Given the description of an element on the screen output the (x, y) to click on. 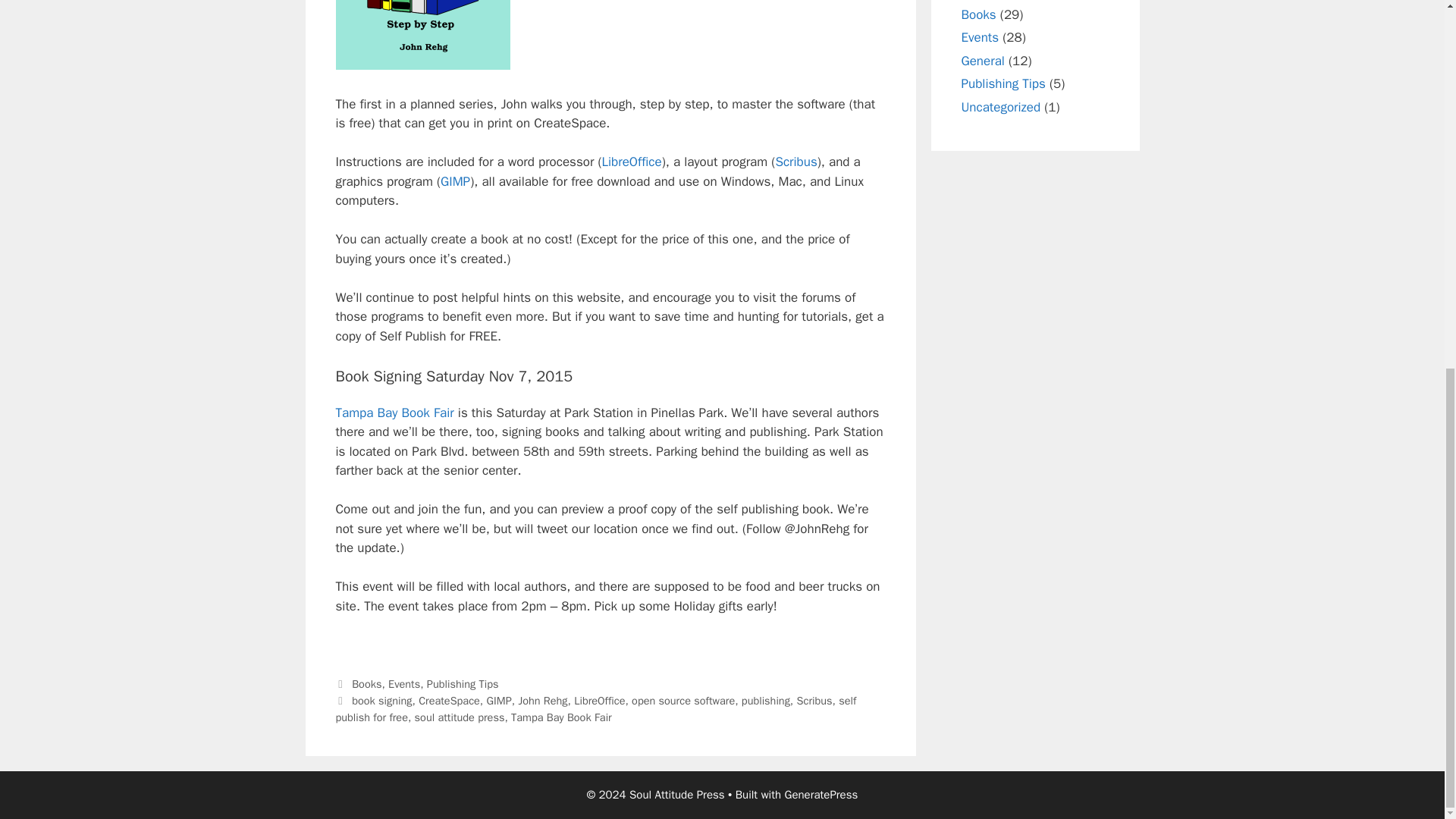
Events (979, 37)
CreateSpace (449, 700)
LibreOffice (598, 700)
publishing (765, 700)
LibreOffice (632, 161)
open source software (683, 700)
Events (404, 684)
Scribus (814, 700)
soul attitude press (459, 716)
GIMP (455, 181)
self publish for free (595, 708)
Publishing Tips (462, 684)
book signing (382, 700)
GIMP (499, 700)
John Rehg (542, 700)
